Given the description of an element on the screen output the (x, y) to click on. 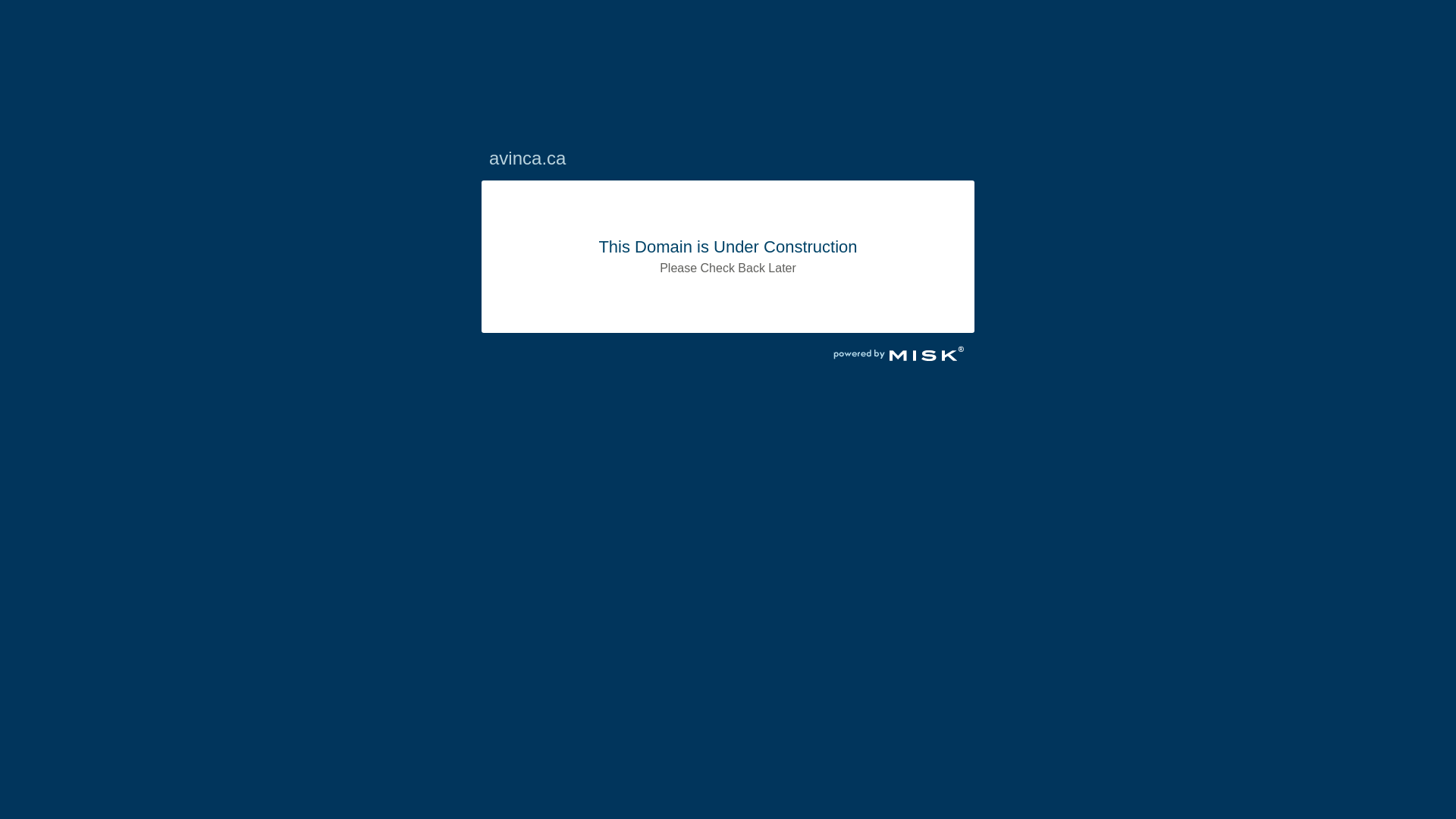
Powered by Misk.com Element type: hover (898, 355)
